Given the description of an element on the screen output the (x, y) to click on. 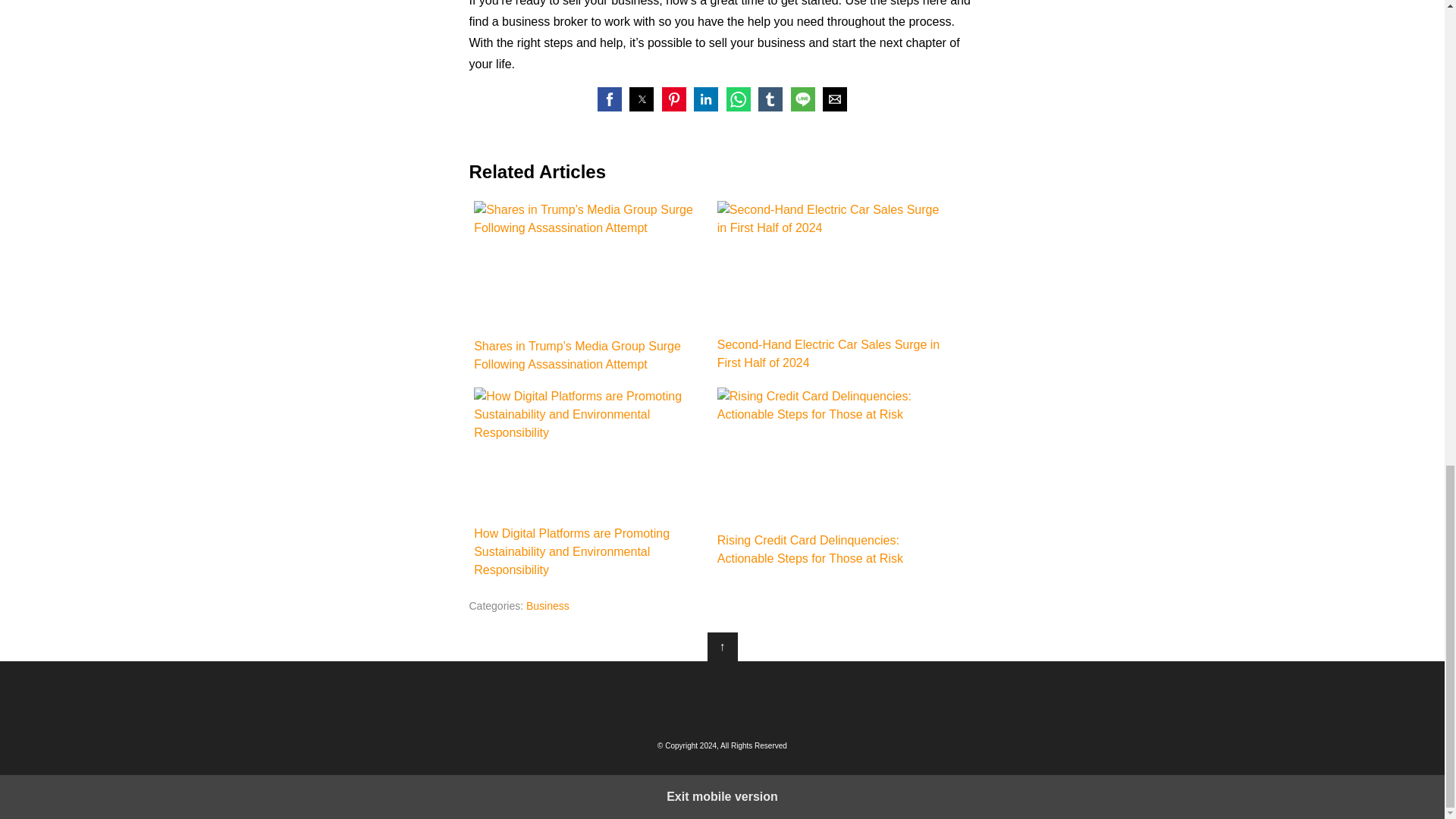
Netherlandsnewslive.com (721, 698)
Business (547, 605)
Second-Hand Electric Car Sales Surge in First Half of 2024 (833, 286)
Second-Hand Electric Car Sales Surge in First Half of 2024 (828, 265)
